Given the description of an element on the screen output the (x, y) to click on. 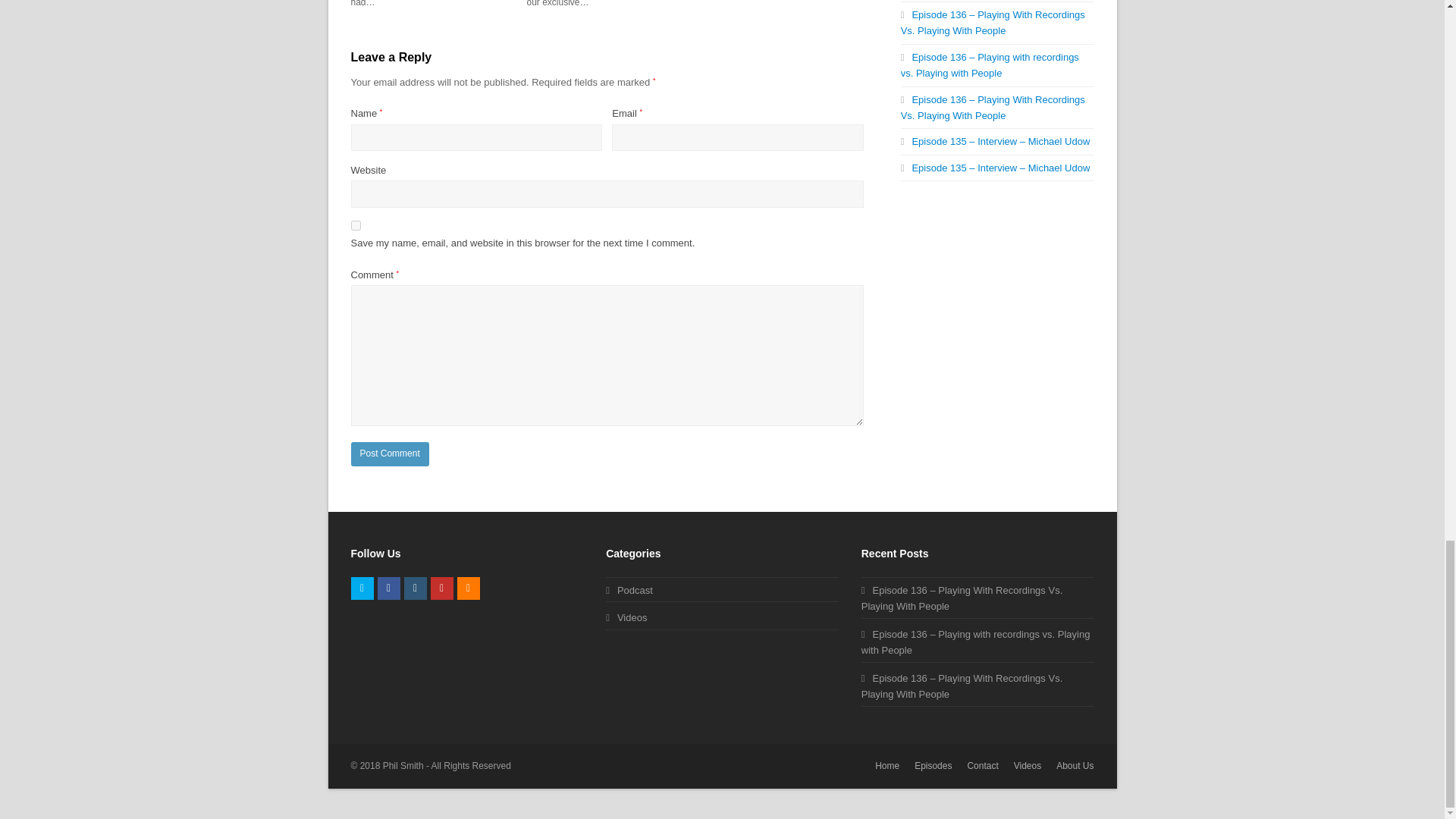
About Us (1075, 766)
Post Comment (389, 454)
yes (354, 225)
Instagram (414, 588)
Facebook (388, 588)
Twitter (361, 588)
Contact (981, 766)
Post Comment (389, 454)
Episodes (933, 766)
